Given the description of an element on the screen output the (x, y) to click on. 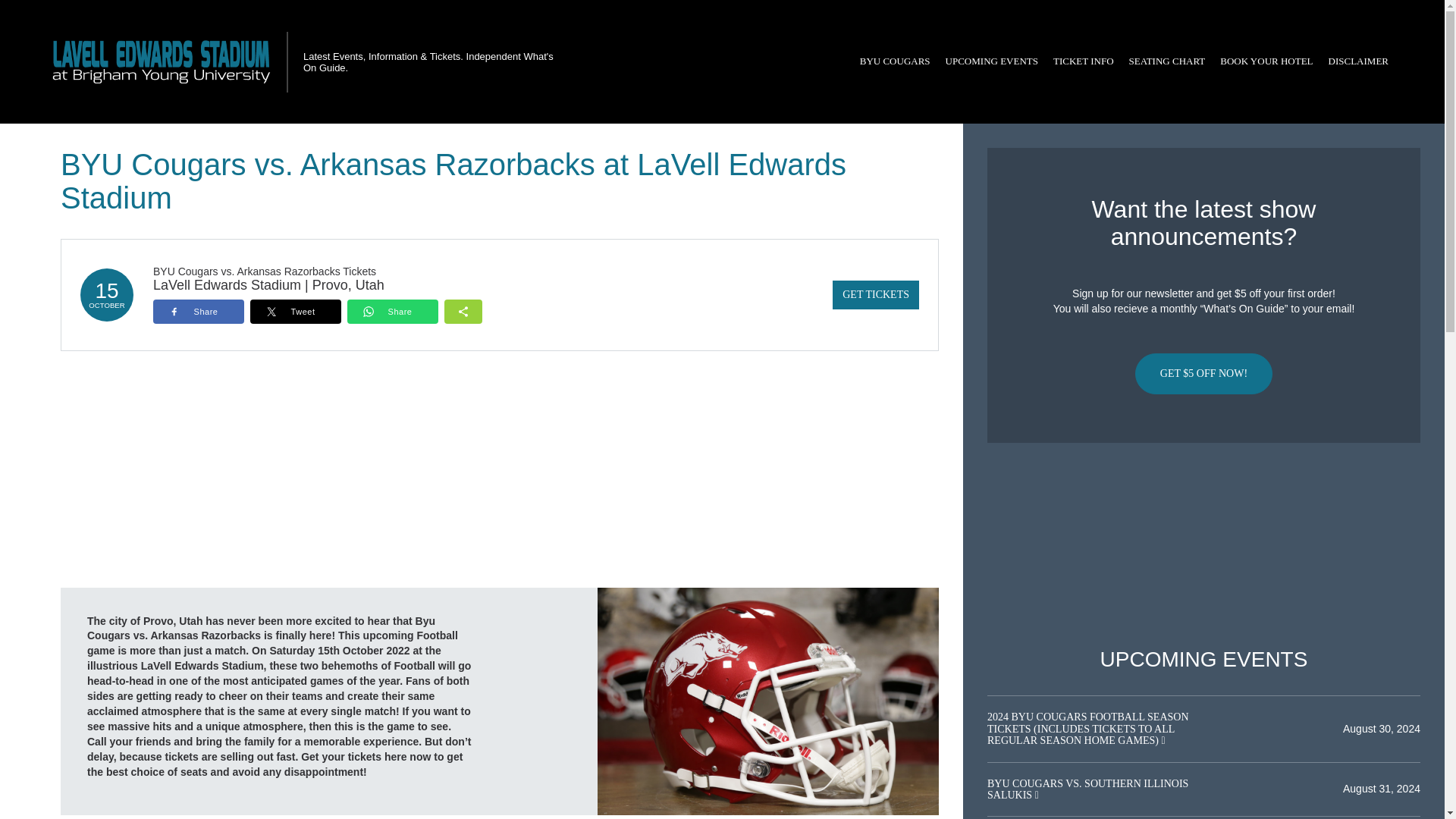
DISCLAIMER (1358, 61)
UPCOMING EVENTS (991, 61)
Advertisement (1204, 545)
BYU COUGARS VS. SOUTHERN ILLINOIS SALUKIS (1087, 789)
SEATING CHART (1166, 61)
BYU COUGARS (894, 61)
BOOK YOUR HOTEL (1266, 61)
BYU Cougars vs. Arkansas Razorbacks Tickets (263, 271)
TICKET INFO (1083, 61)
GET TICKETS (875, 294)
